Given the description of an element on the screen output the (x, y) to click on. 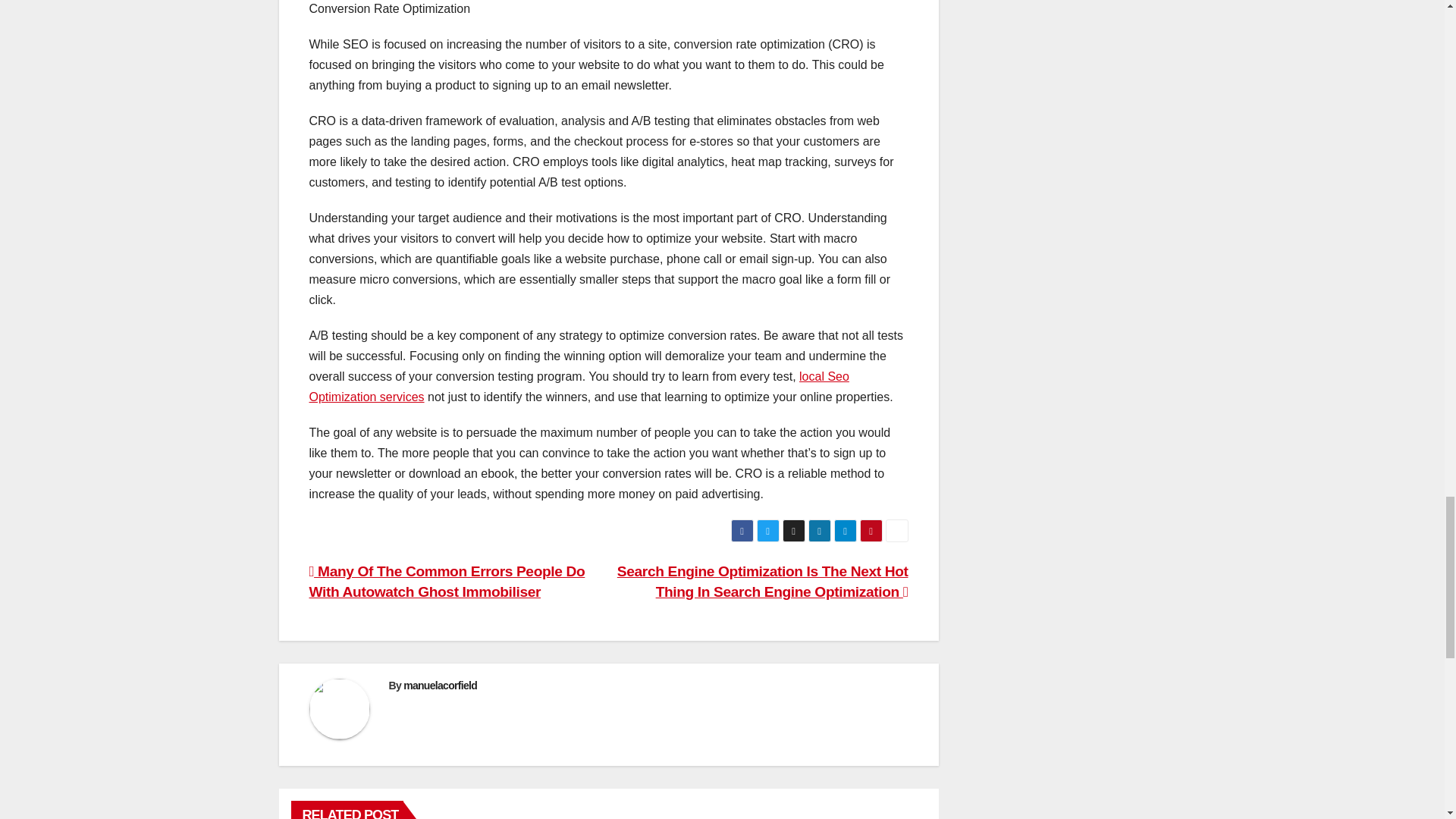
local Seo Optimization services (578, 386)
manuelacorfield (440, 685)
